Given the description of an element on the screen output the (x, y) to click on. 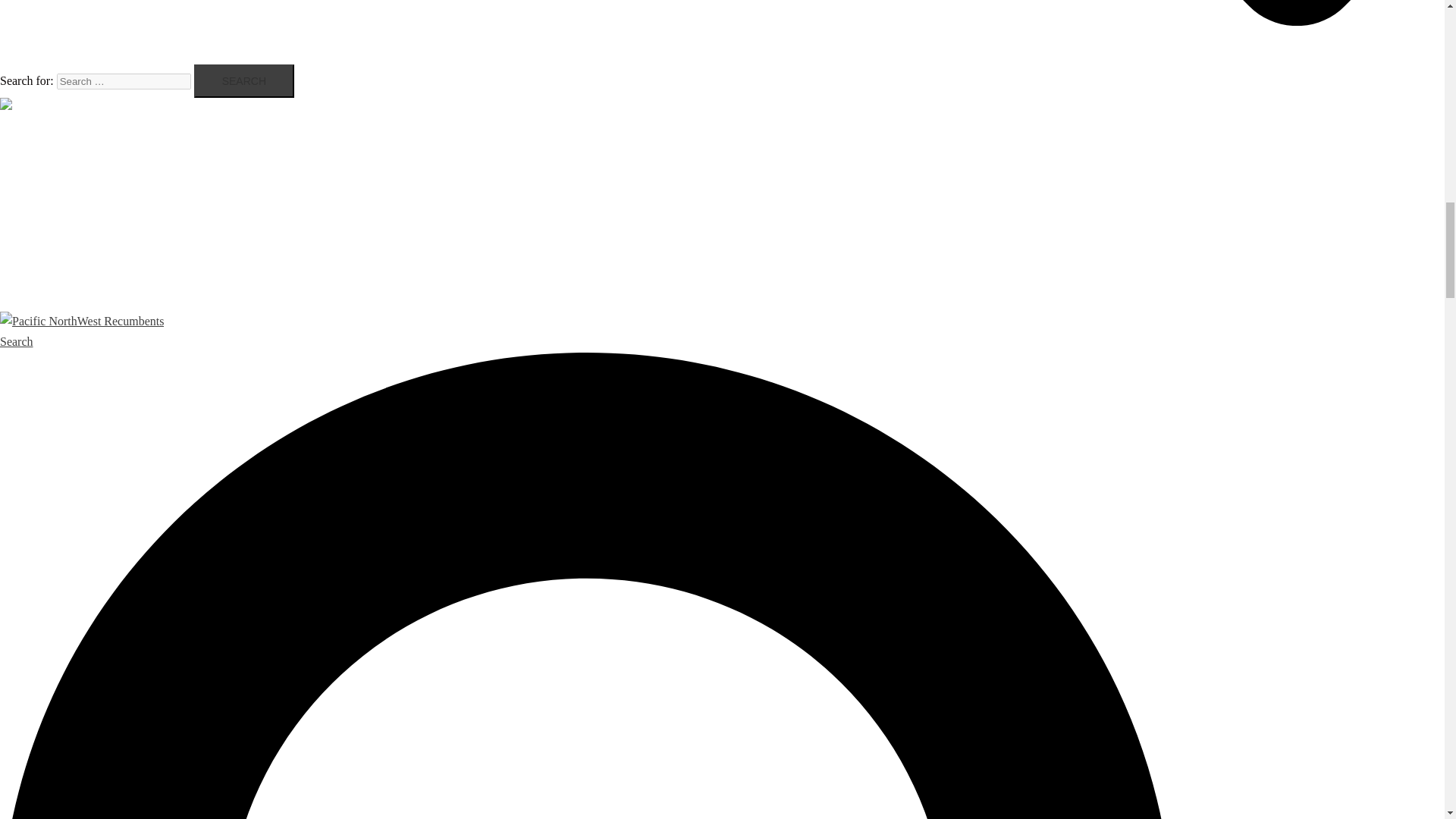
Search (243, 80)
Photo Links (63, 230)
Search (243, 80)
Search (243, 80)
Home (47, 161)
Close menu (34, 127)
Recumbent Retreat (82, 207)
Pacific NorthWest Recumbents (81, 320)
Pacific NorthWest Recumbents (81, 106)
Links to Other Sites (84, 253)
